Given the description of an element on the screen output the (x, y) to click on. 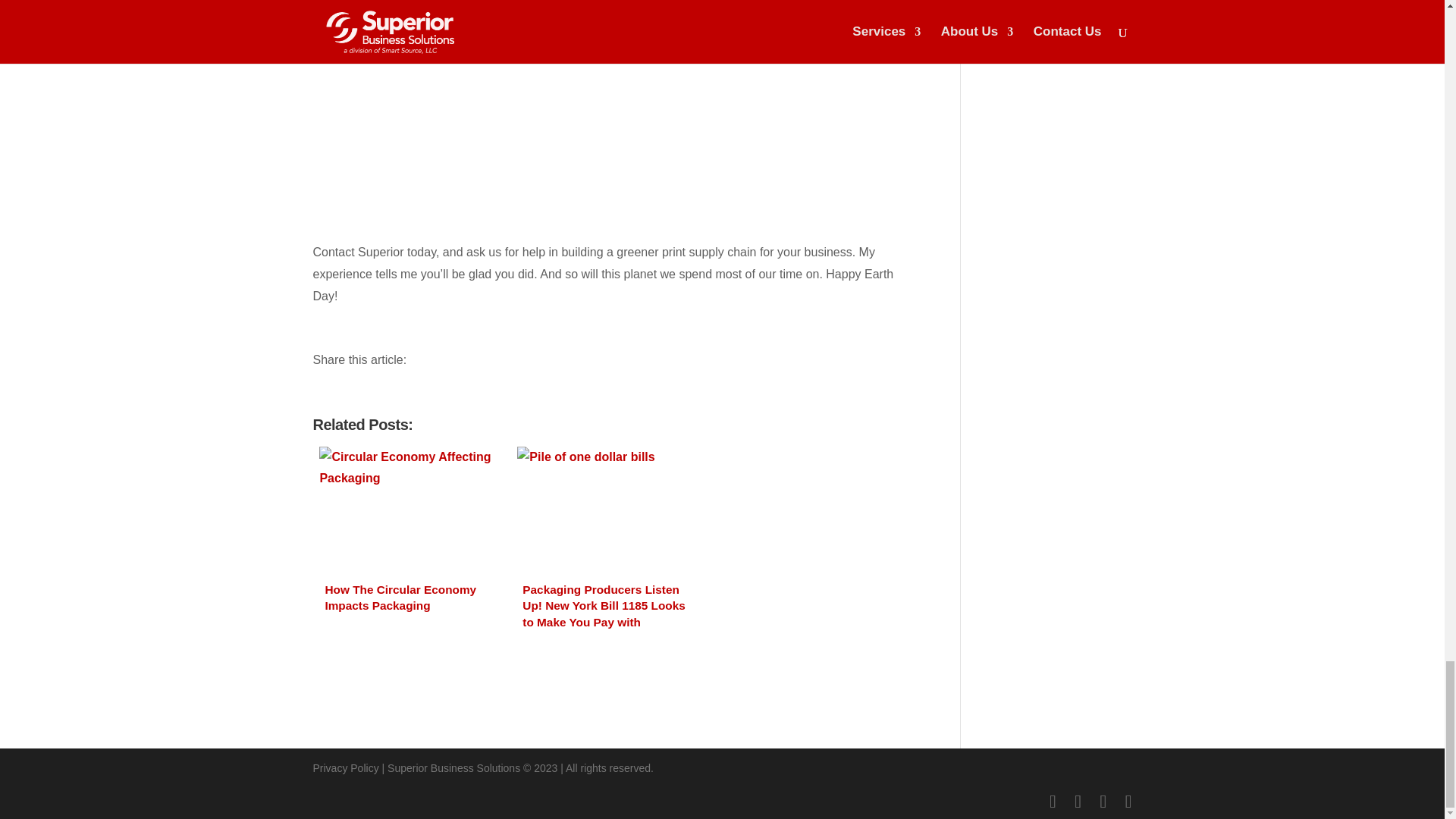
How The Circular Economy Impacts Packaging    (409, 536)
